Given the description of an element on the screen output the (x, y) to click on. 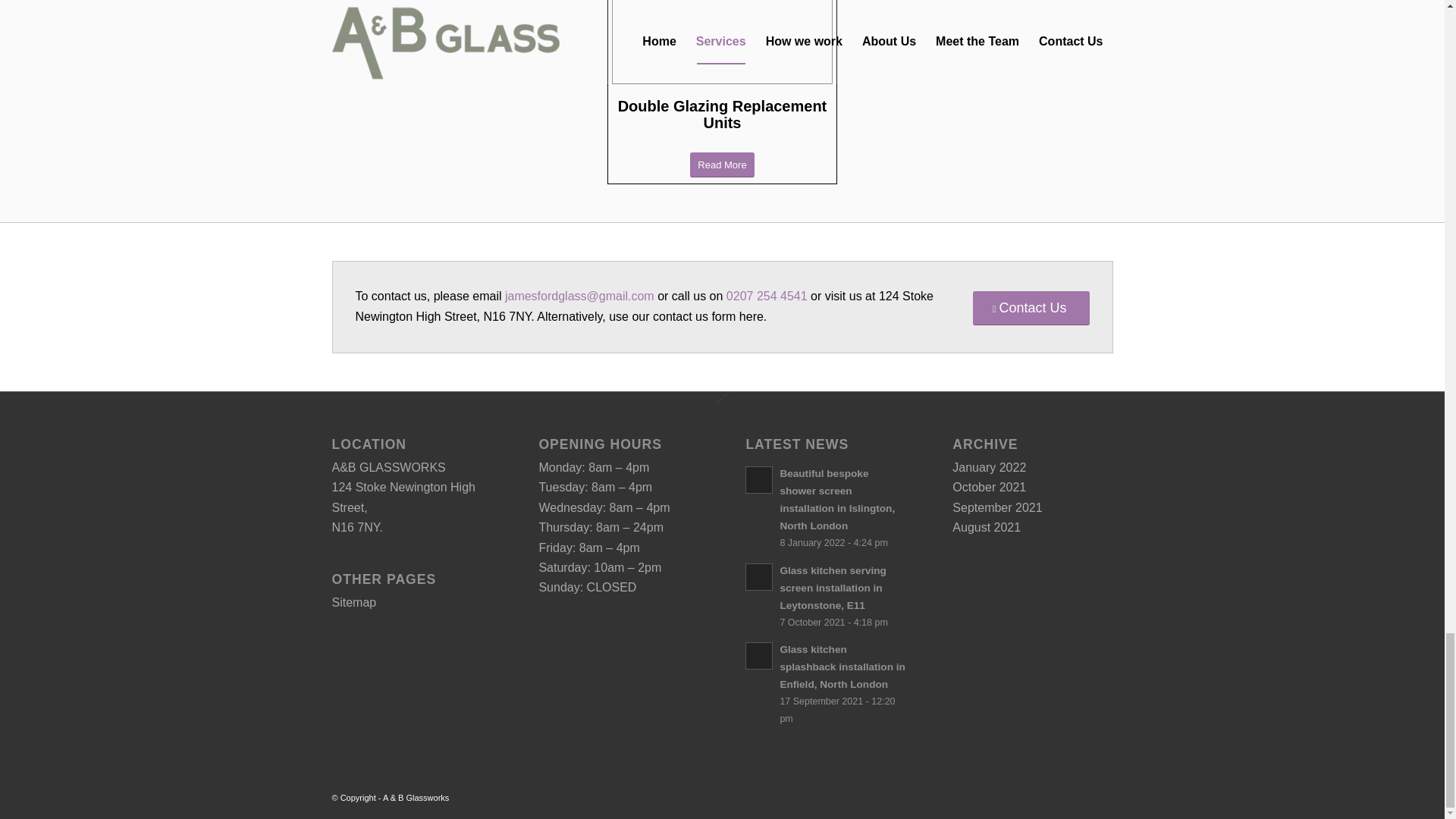
Double glazed replacement (721, 45)
September 2021 (997, 507)
Contact Us (1030, 308)
Read More (722, 164)
October 2021 (989, 486)
January 2022 (989, 467)
Sitemap (354, 602)
